Given the description of an element on the screen output the (x, y) to click on. 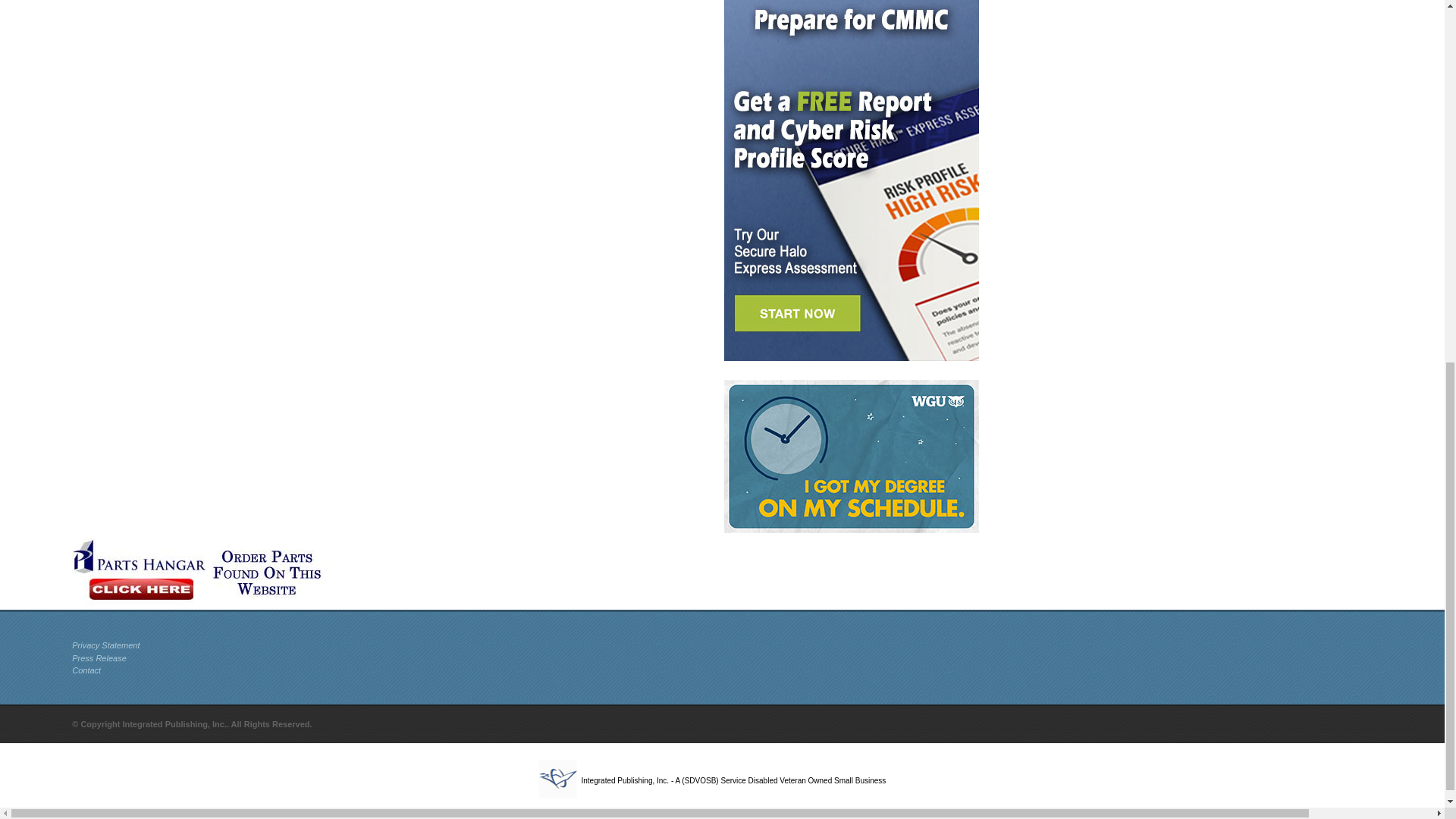
Contact (85, 669)
Press Release (98, 657)
Privacy Statement (105, 645)
